Given the description of an element on the screen output the (x, y) to click on. 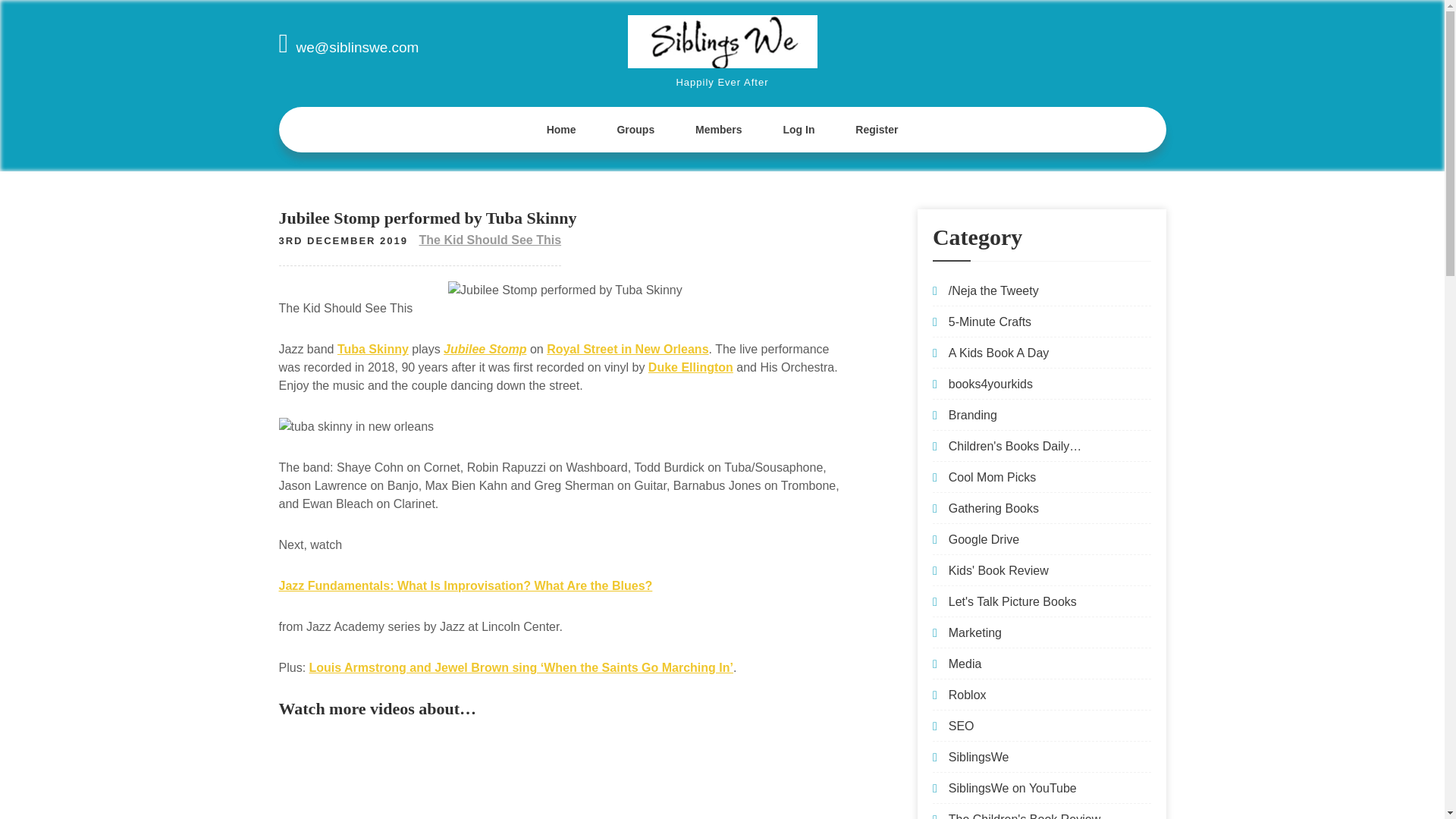
The Children's Book Review (1024, 816)
Groups (634, 129)
The Kid Should See This (489, 239)
Royal Street in New Orleans (627, 349)
Media (965, 663)
Register (876, 129)
Members (718, 129)
SiblingsWe (979, 757)
Duke Ellington (690, 367)
SEO (961, 725)
Log In (797, 129)
Kids' Book Review (998, 570)
Roblox (968, 694)
Let's Talk Picture Books (1013, 601)
Tuba Skinny (373, 349)
